Given the description of an element on the screen output the (x, y) to click on. 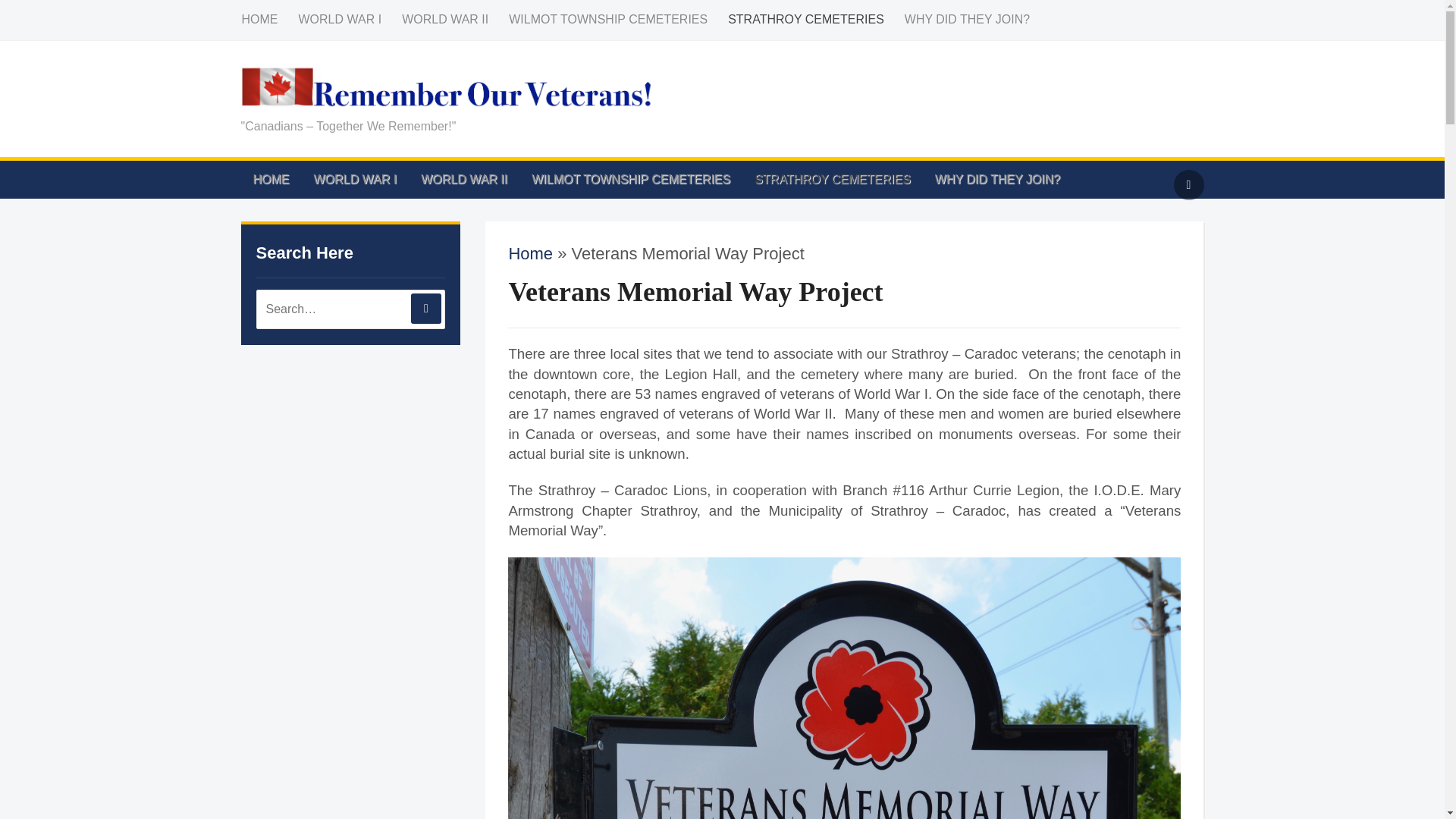
HOME (269, 19)
Search (425, 308)
WORLD WAR II (453, 19)
WHY DID THEY JOIN? (976, 19)
WORLD WAR I (349, 19)
WILMOT TOWNSHIP CEMETERIES (617, 19)
Search (425, 308)
STRATHROY CEMETERIES (815, 19)
